Given the description of an element on the screen output the (x, y) to click on. 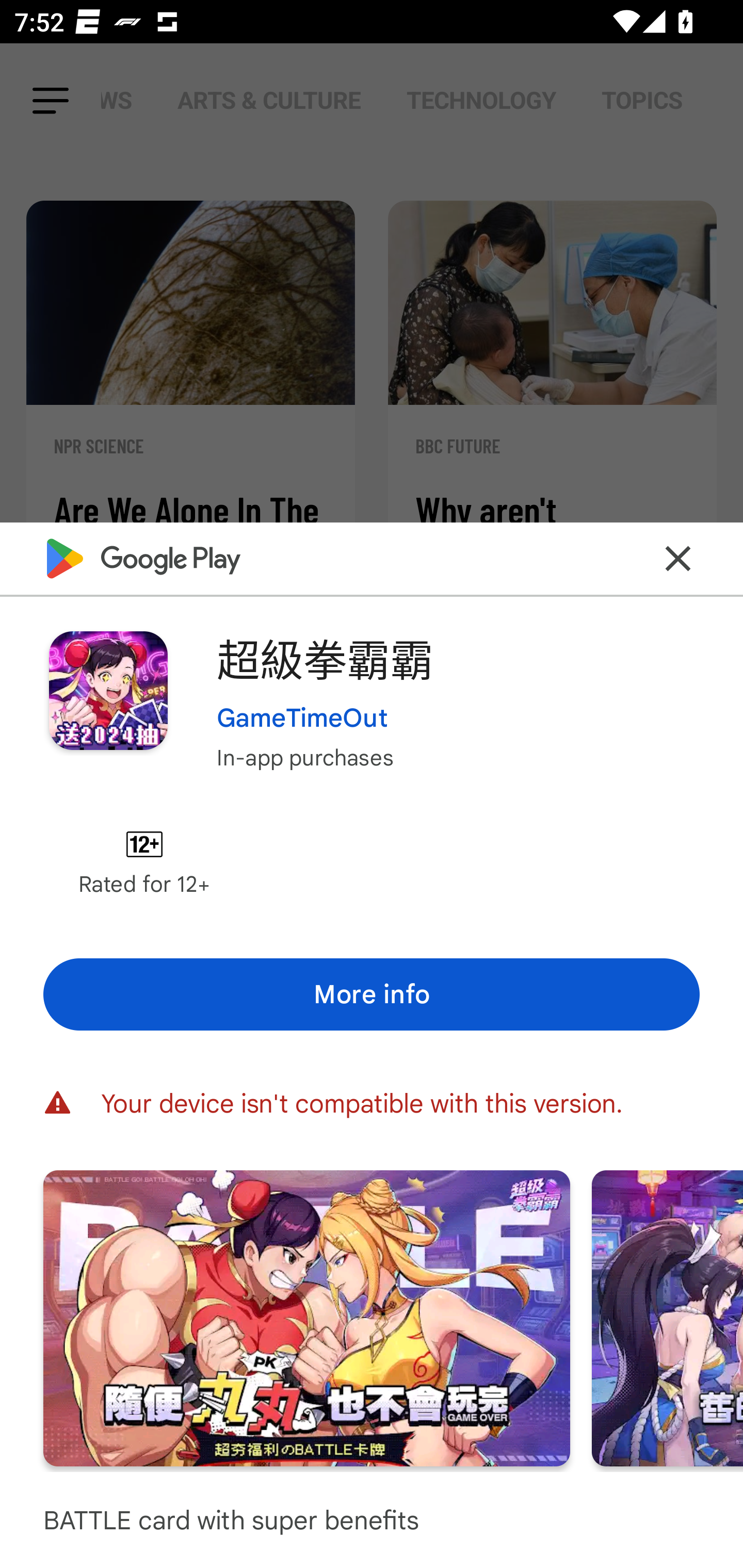
Close (677, 558)
Image of app or game icon for 超級拳霸霸 (108, 690)
GameTimeOut (301, 716)
More info (371, 994)
Screenshot "1" of "7" (306, 1317)
